Given the description of an element on the screen output the (x, y) to click on. 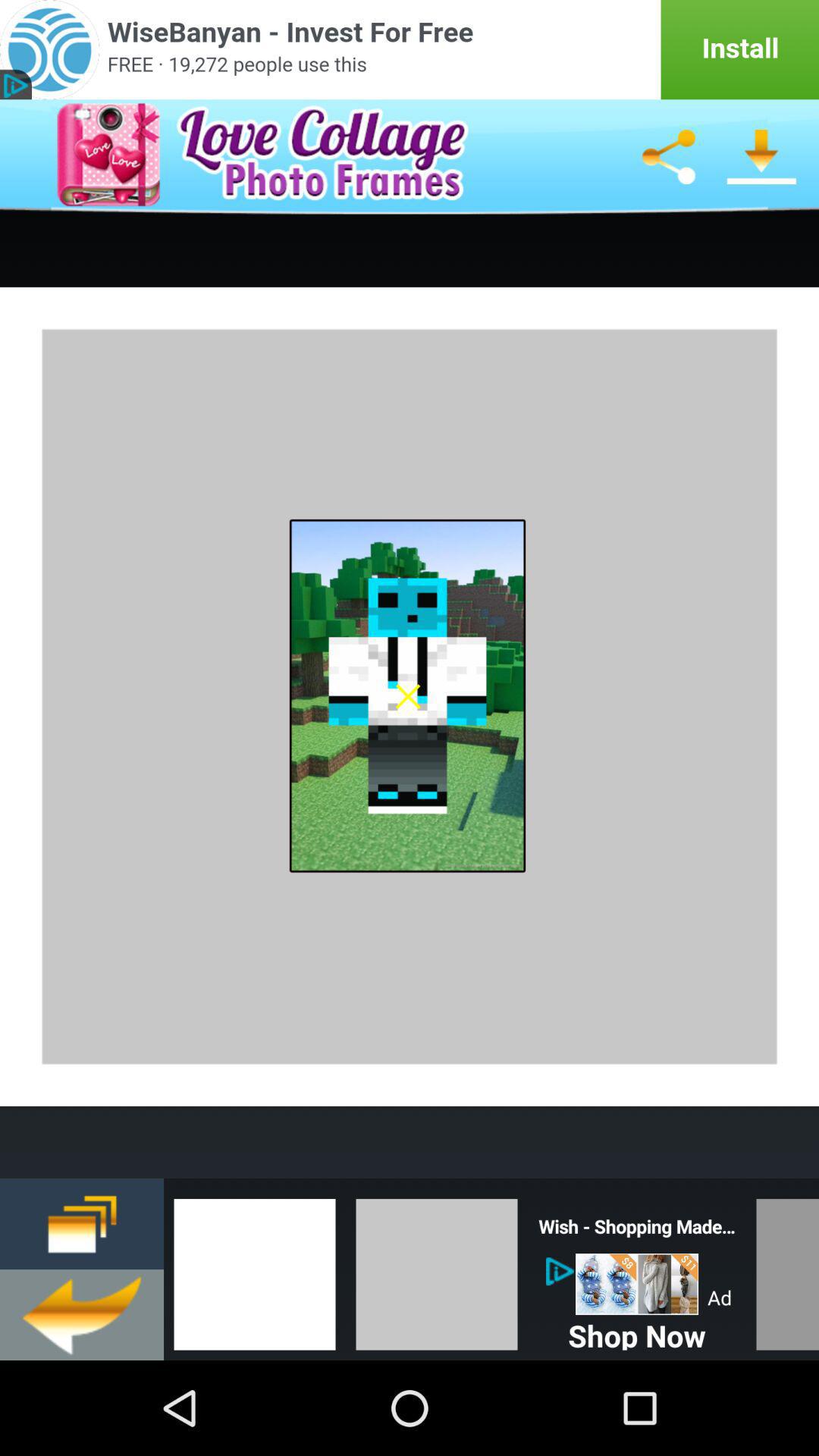
change background (436, 1269)
